Given the description of an element on the screen output the (x, y) to click on. 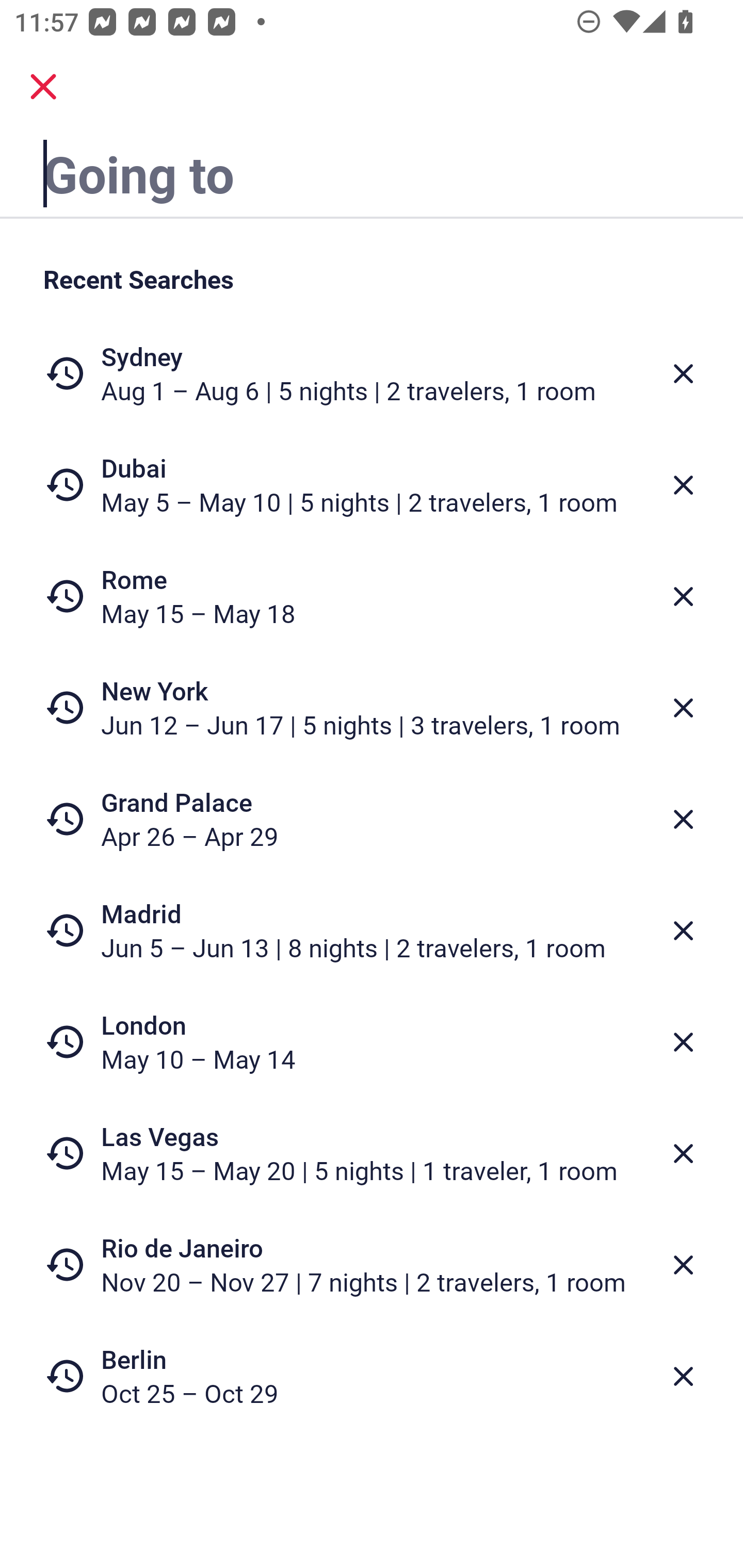
close. (43, 86)
Delete from recent searches (683, 373)
Delete from recent searches (683, 485)
Rome May 15 – May 18 (371, 596)
Delete from recent searches (683, 596)
Delete from recent searches (683, 707)
Grand Palace Apr 26 – Apr 29 (371, 818)
Delete from recent searches (683, 819)
Delete from recent searches (683, 930)
London May 10 – May 14 (371, 1041)
Delete from recent searches (683, 1041)
Delete from recent searches (683, 1153)
Delete from recent searches (683, 1265)
Berlin Oct 25 – Oct 29 (371, 1375)
Delete from recent searches (683, 1376)
